Given the description of an element on the screen output the (x, y) to click on. 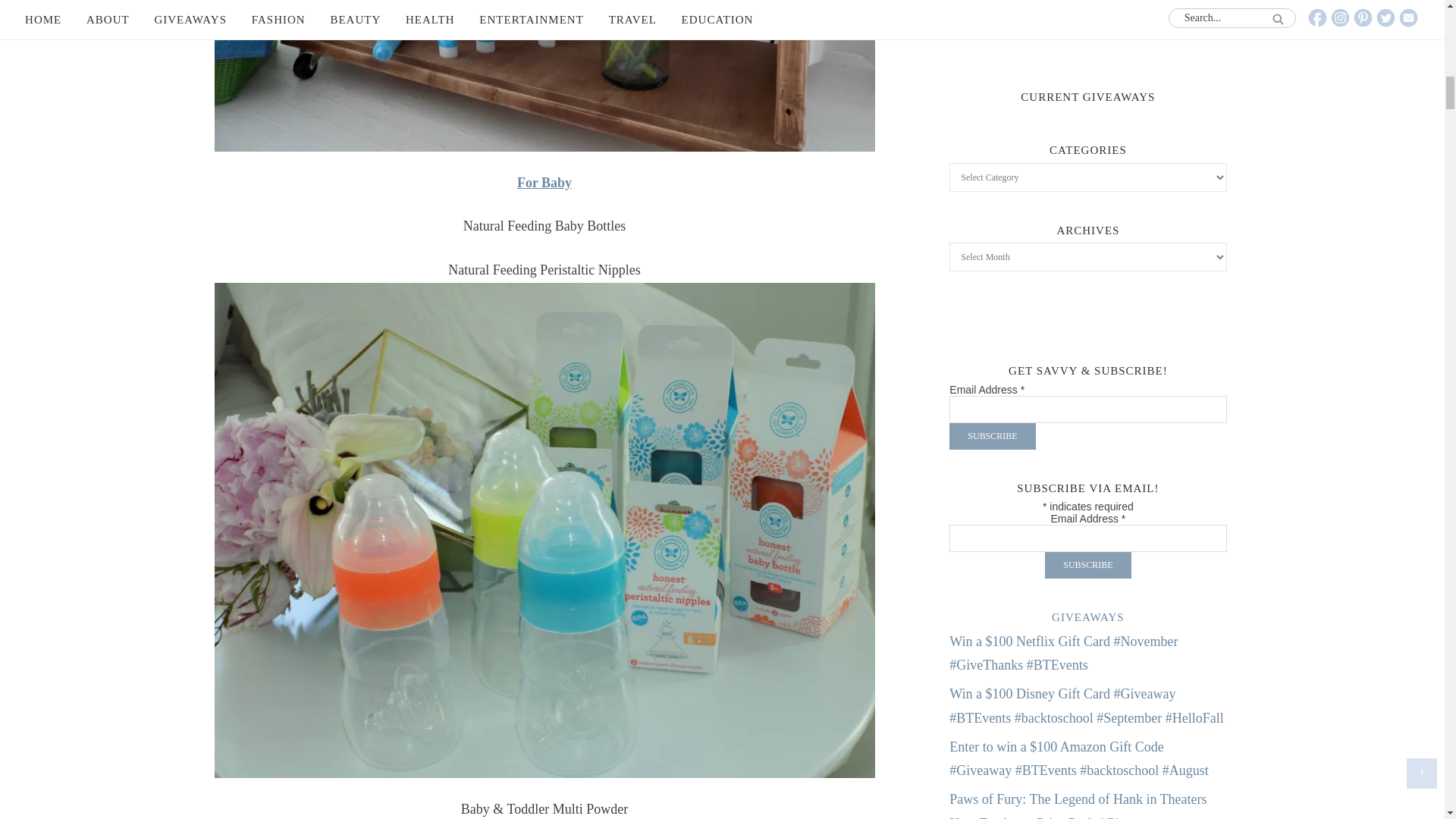
For Baby (544, 182)
Subscribe (992, 436)
Subscribe (1088, 565)
